Given the description of an element on the screen output the (x, y) to click on. 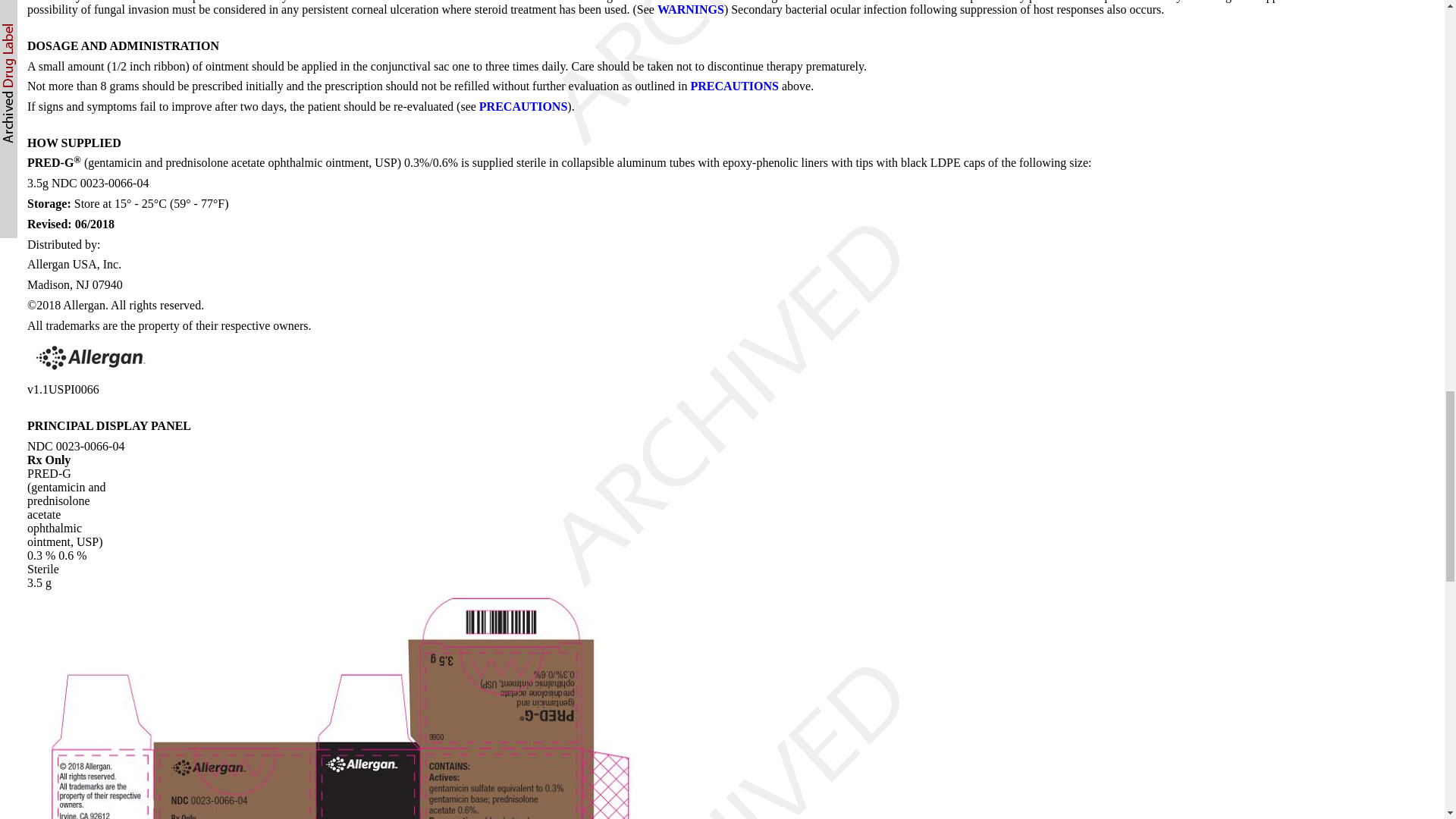
PRECAUTIONS (733, 85)
PRECAUTIONS (523, 106)
WARNINGS (690, 9)
